Given the description of an element on the screen output the (x, y) to click on. 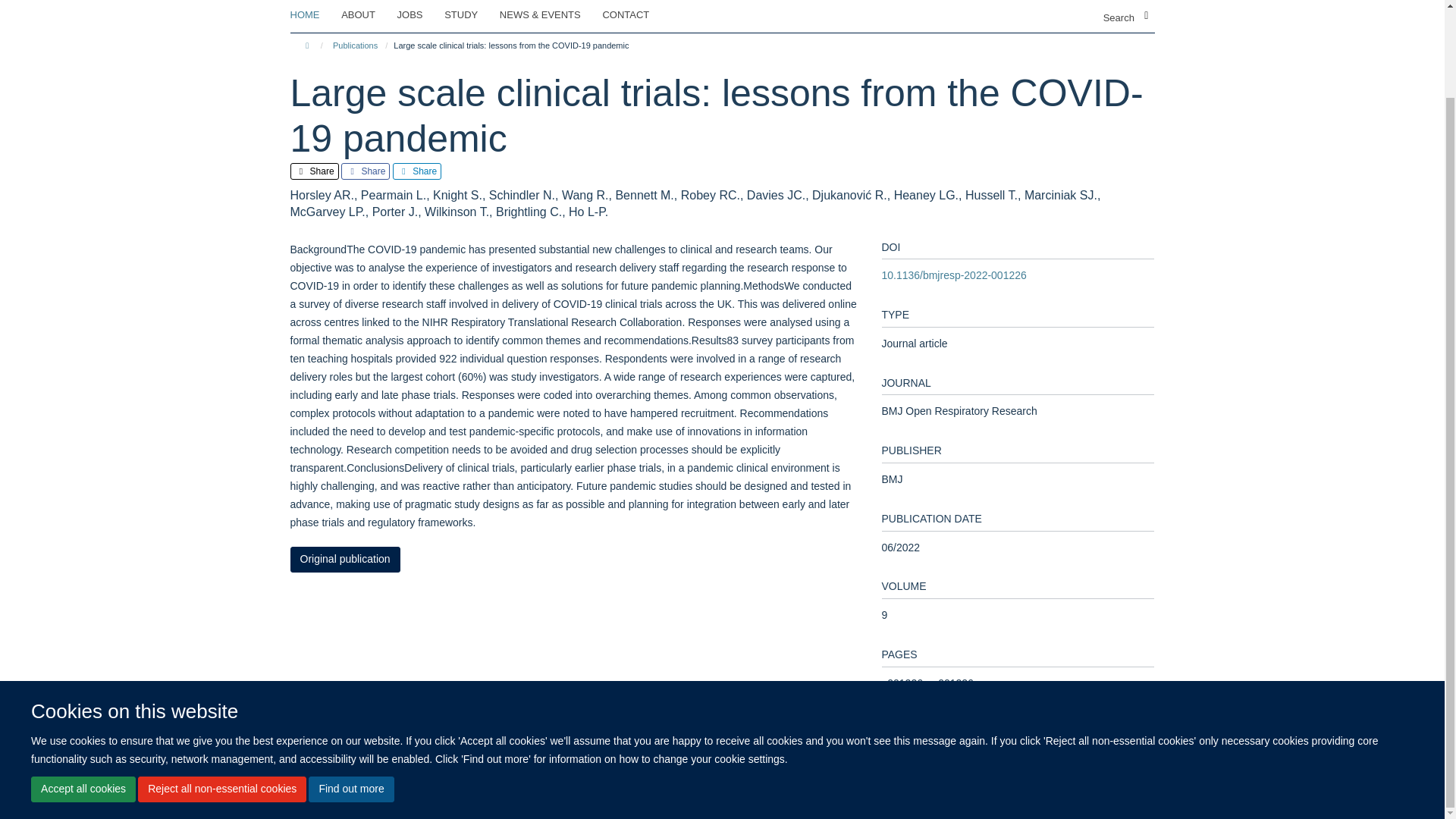
ABOUT (367, 15)
Reject all non-essential cookies (221, 689)
Find out more (350, 689)
Accept all cookies (82, 689)
HOME (313, 15)
